Given the description of an element on the screen output the (x, y) to click on. 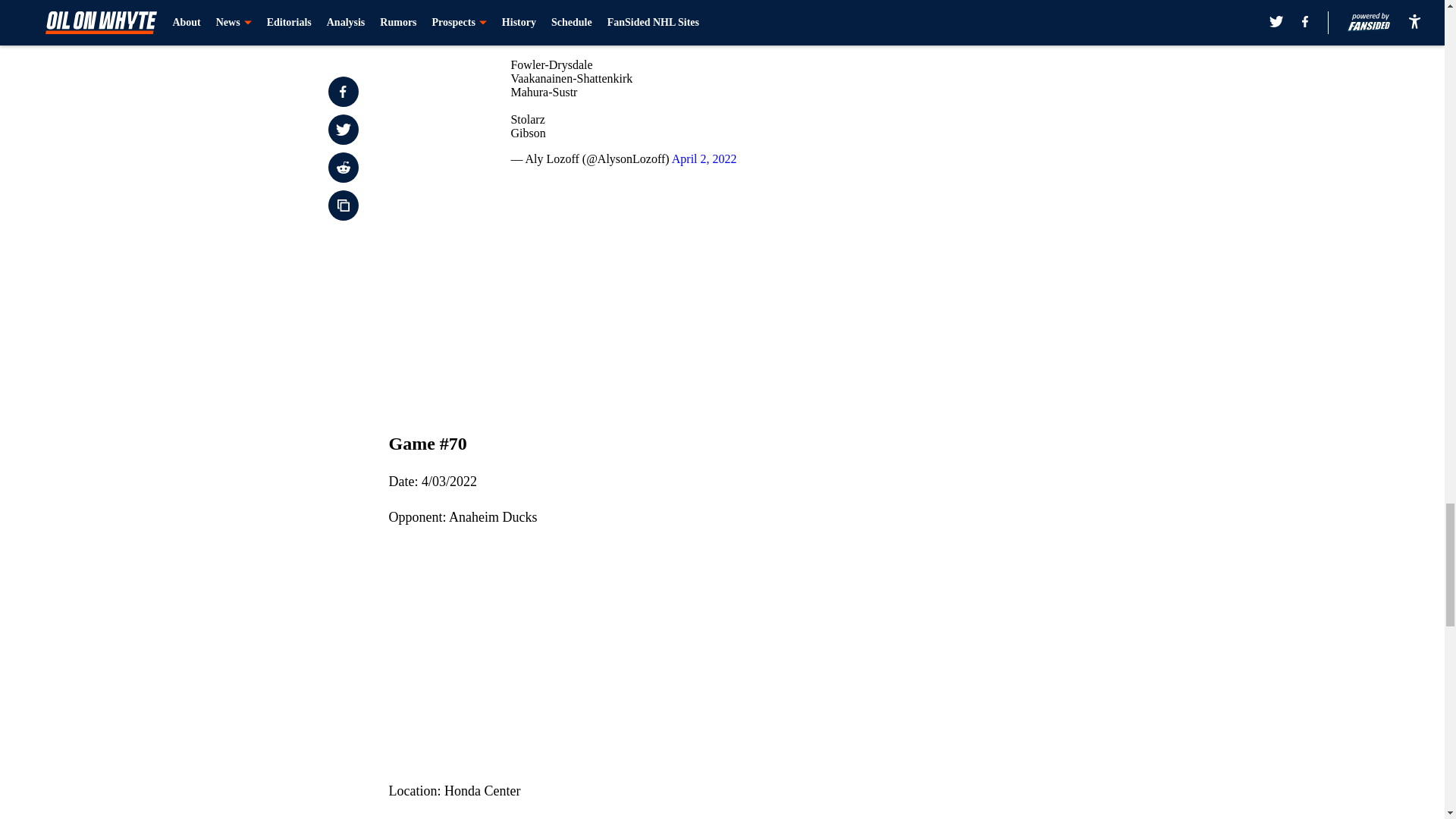
April 2, 2022 (703, 158)
